Given the description of an element on the screen output the (x, y) to click on. 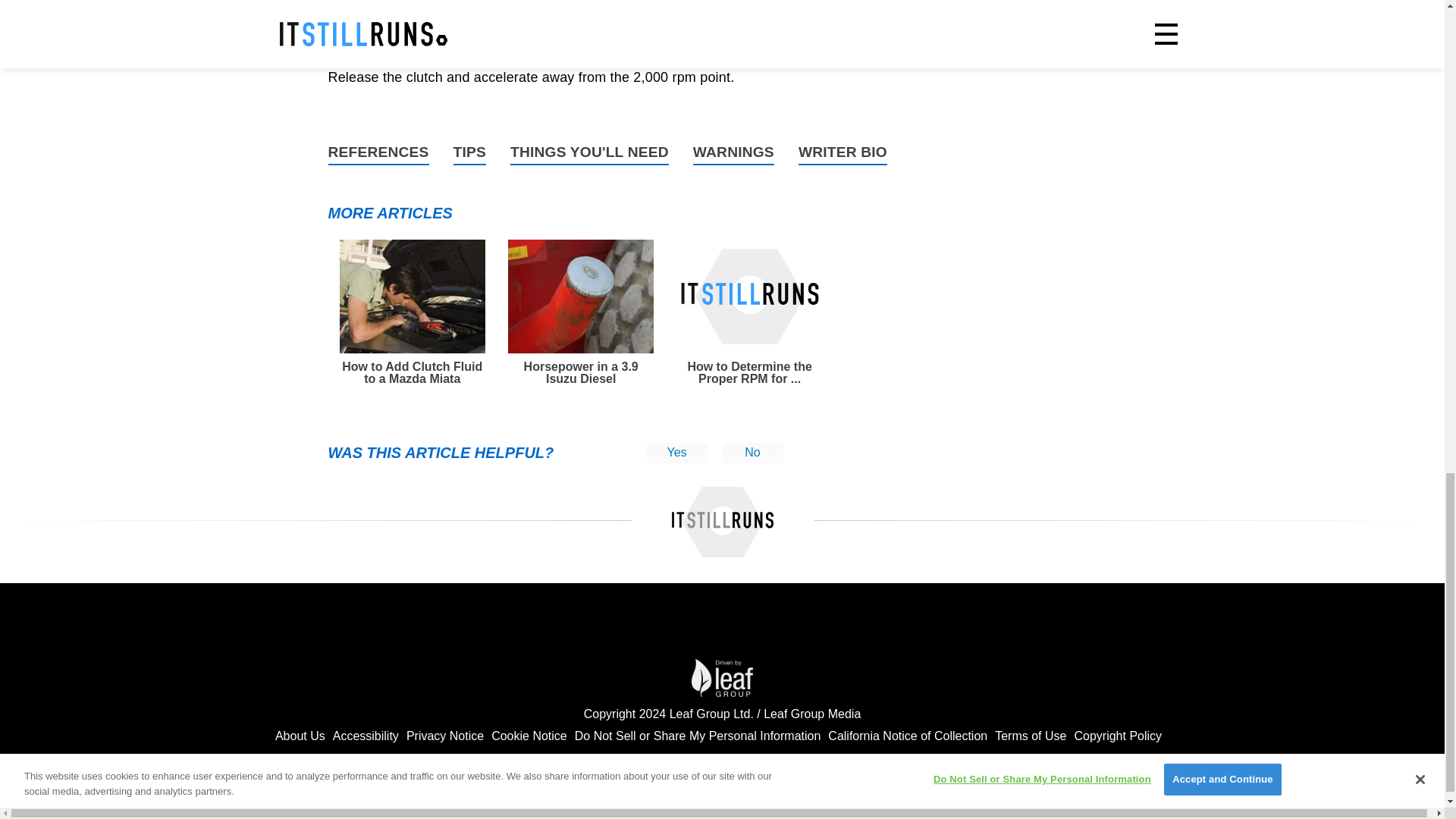
About Us (299, 735)
Yes (676, 452)
How to Add Clutch Fluid to a Mazda Miata (411, 311)
How to Determine the Proper RPM for ... (749, 311)
accessibility (365, 735)
privacy-policy (444, 735)
Accessibility (365, 735)
copyright-policy (1117, 735)
Do Not Sell or Share My Personal Information (698, 735)
privacy-policy (907, 735)
No (752, 452)
Horsepower in a 3.9 Isuzu Diesel (580, 311)
privacy-policy (529, 735)
Cookie Notice (529, 735)
terms-of-use (1029, 735)
